Given the description of an element on the screen output the (x, y) to click on. 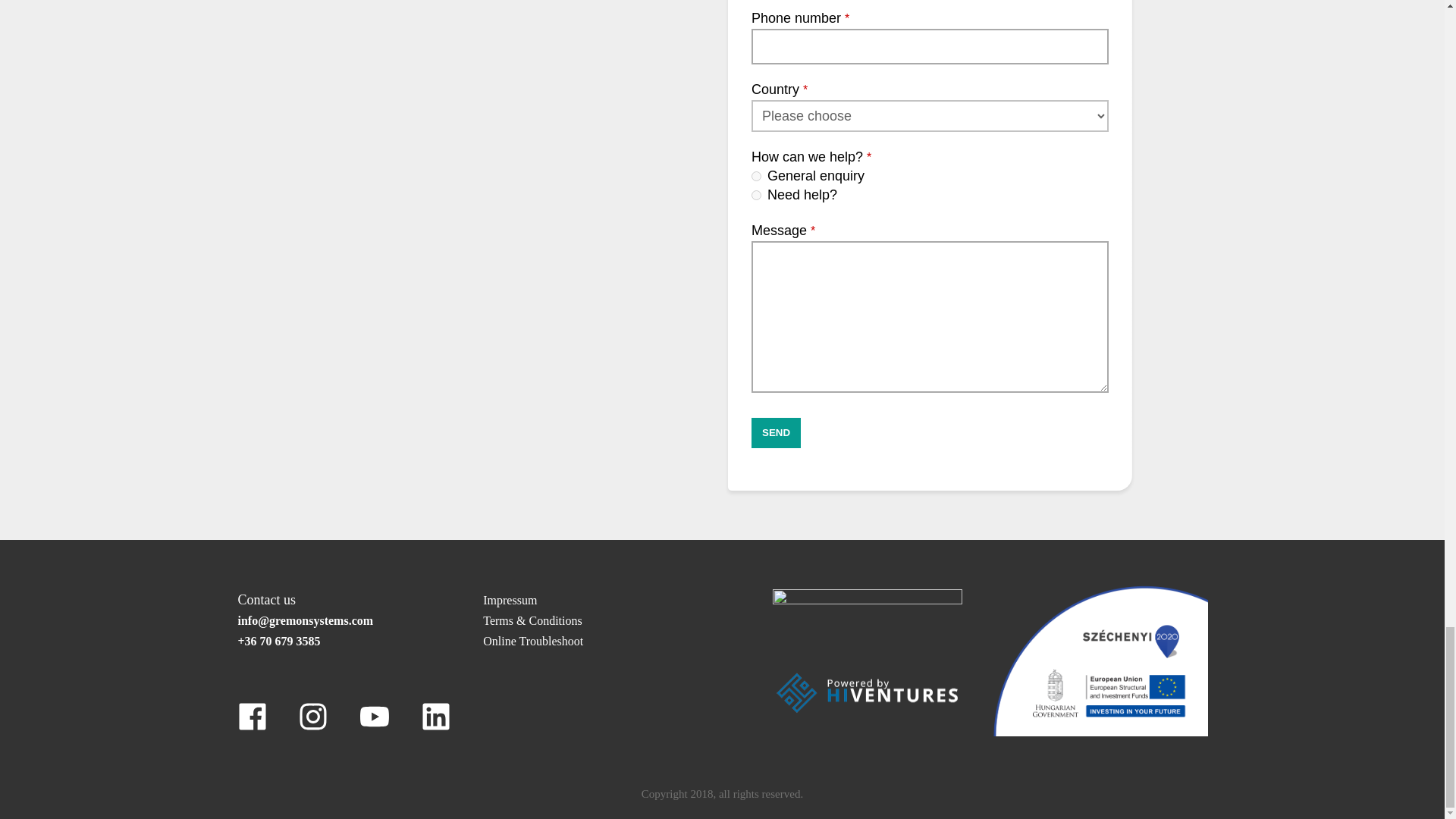
gremon-systems-logo 02 (867, 613)
General enquiry (756, 175)
gremonsystems-hiventures-logo 01 (867, 692)
Need help? (756, 194)
